Given the description of an element on the screen output the (x, y) to click on. 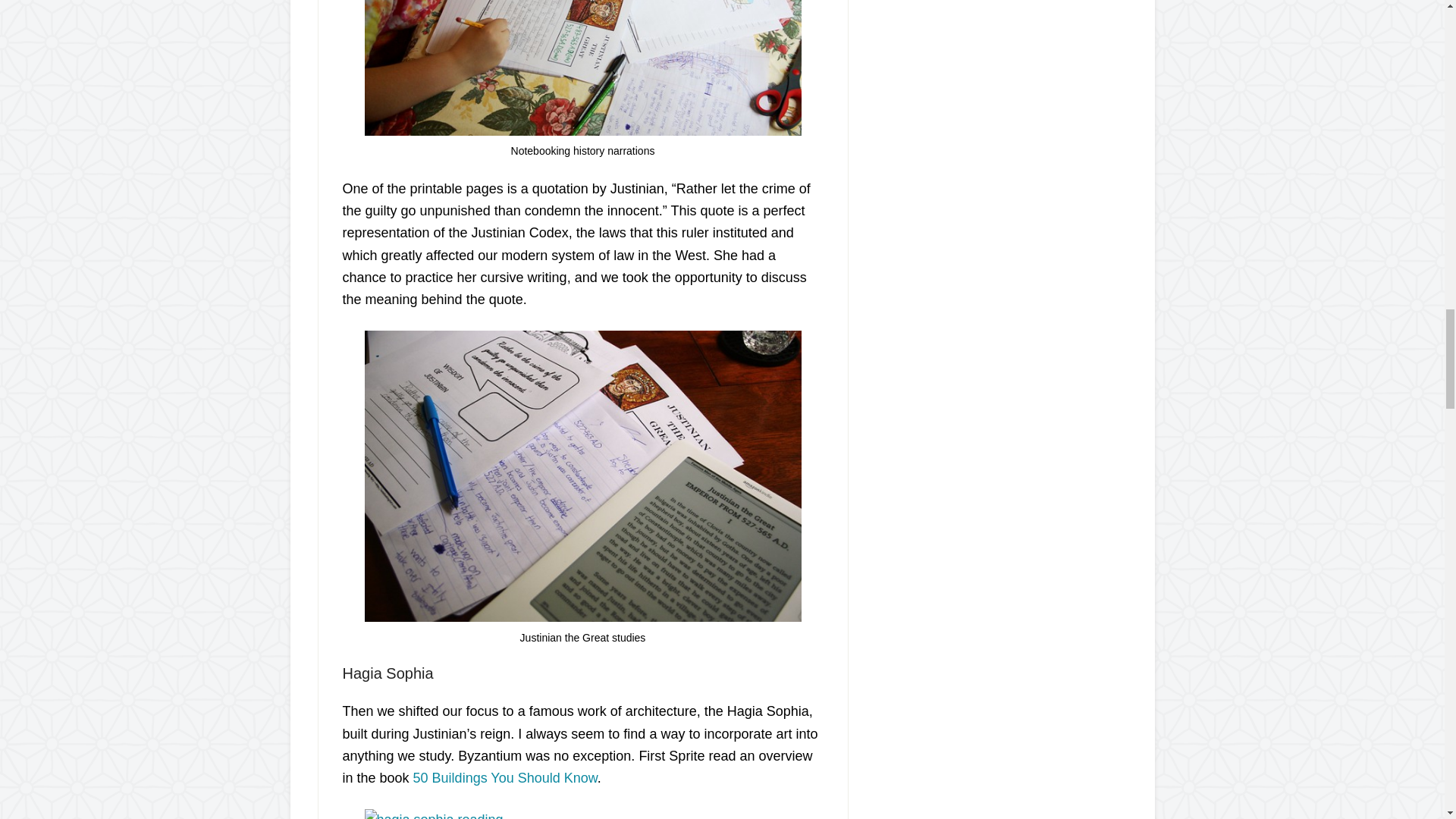
justinian notebooking3 by jimmiehomeschoolmom, on Flickr (582, 130)
50 Buildings You Should Know (504, 777)
hagia sophia reading by jimmiehomeschoolmom, on Flickr (433, 815)
